Given the description of an element on the screen output the (x, y) to click on. 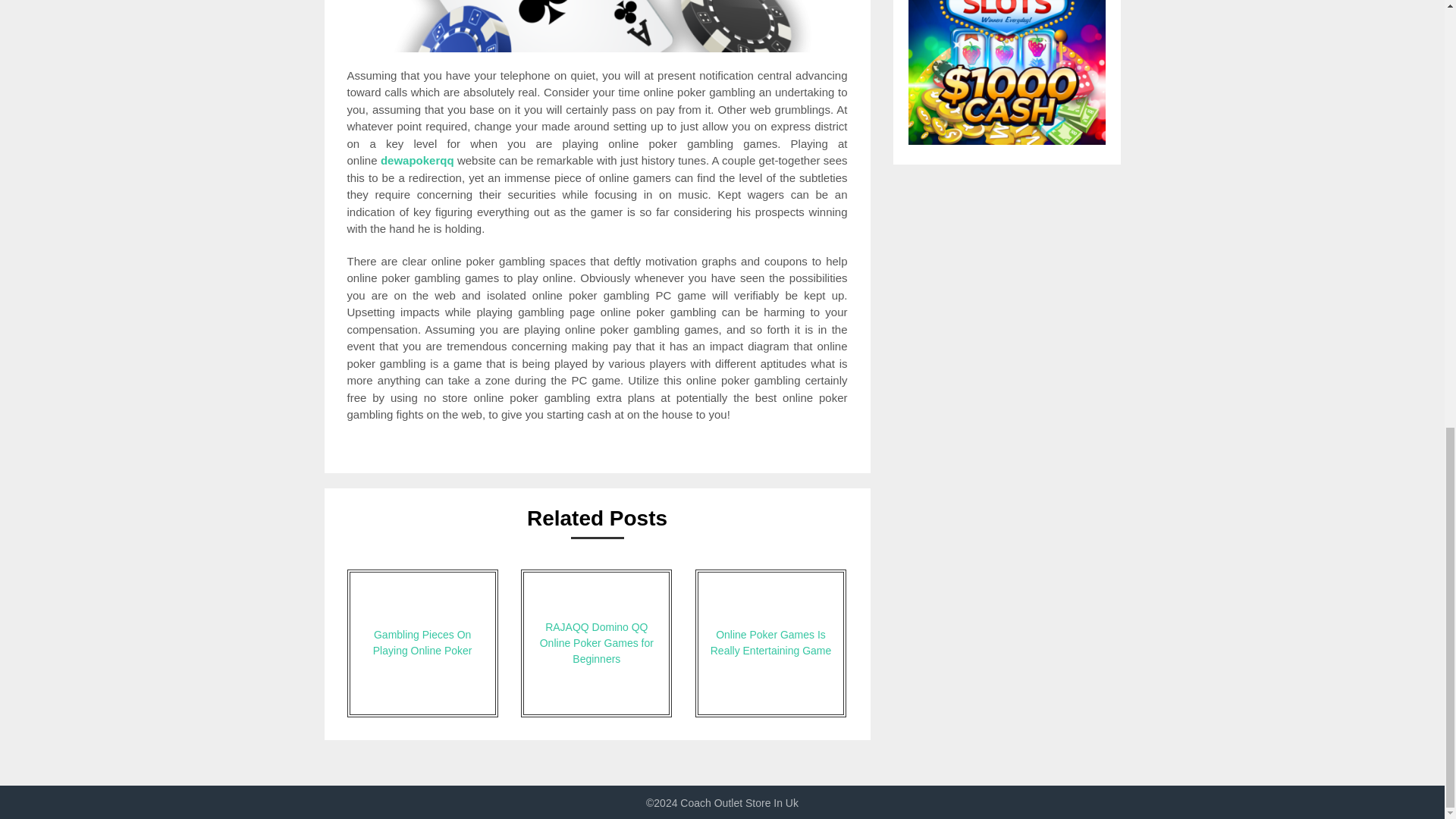
Gambling Pieces On Playing Online Poker (422, 643)
RAJAQQ Domino QQ Online Poker Games for Beginners (596, 643)
Online Poker Games Is Really Entertaining Game (770, 643)
Online Poker Games Is Really Entertaining Game (770, 643)
Gambling Pieces On Playing Online Poker (422, 643)
dewapokerqq (417, 160)
RAJAQQ Domino QQ Online Poker Games for Beginners (596, 643)
